Given the description of an element on the screen output the (x, y) to click on. 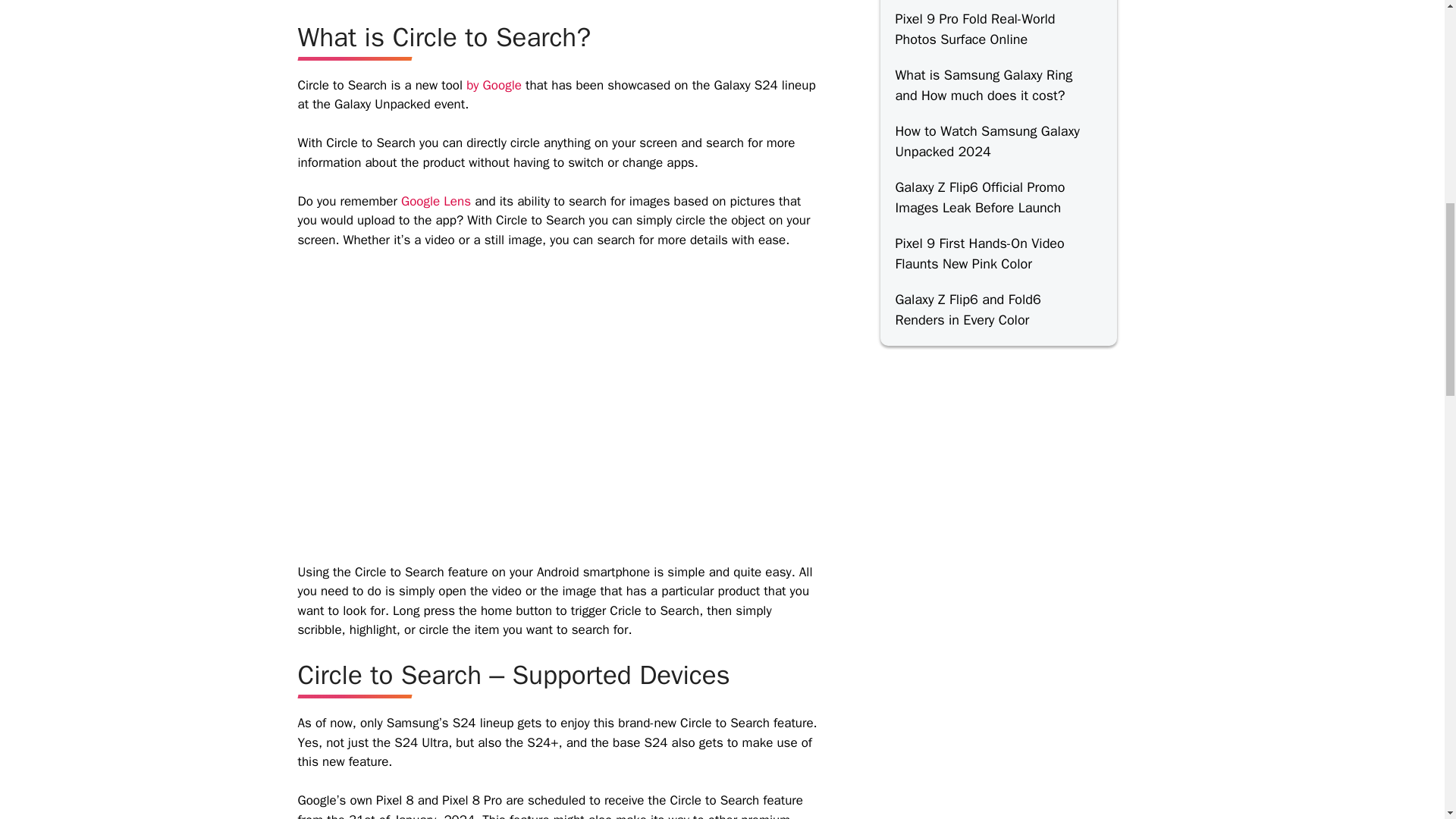
Google Lens (435, 201)
by Google (493, 84)
